Given the description of an element on the screen output the (x, y) to click on. 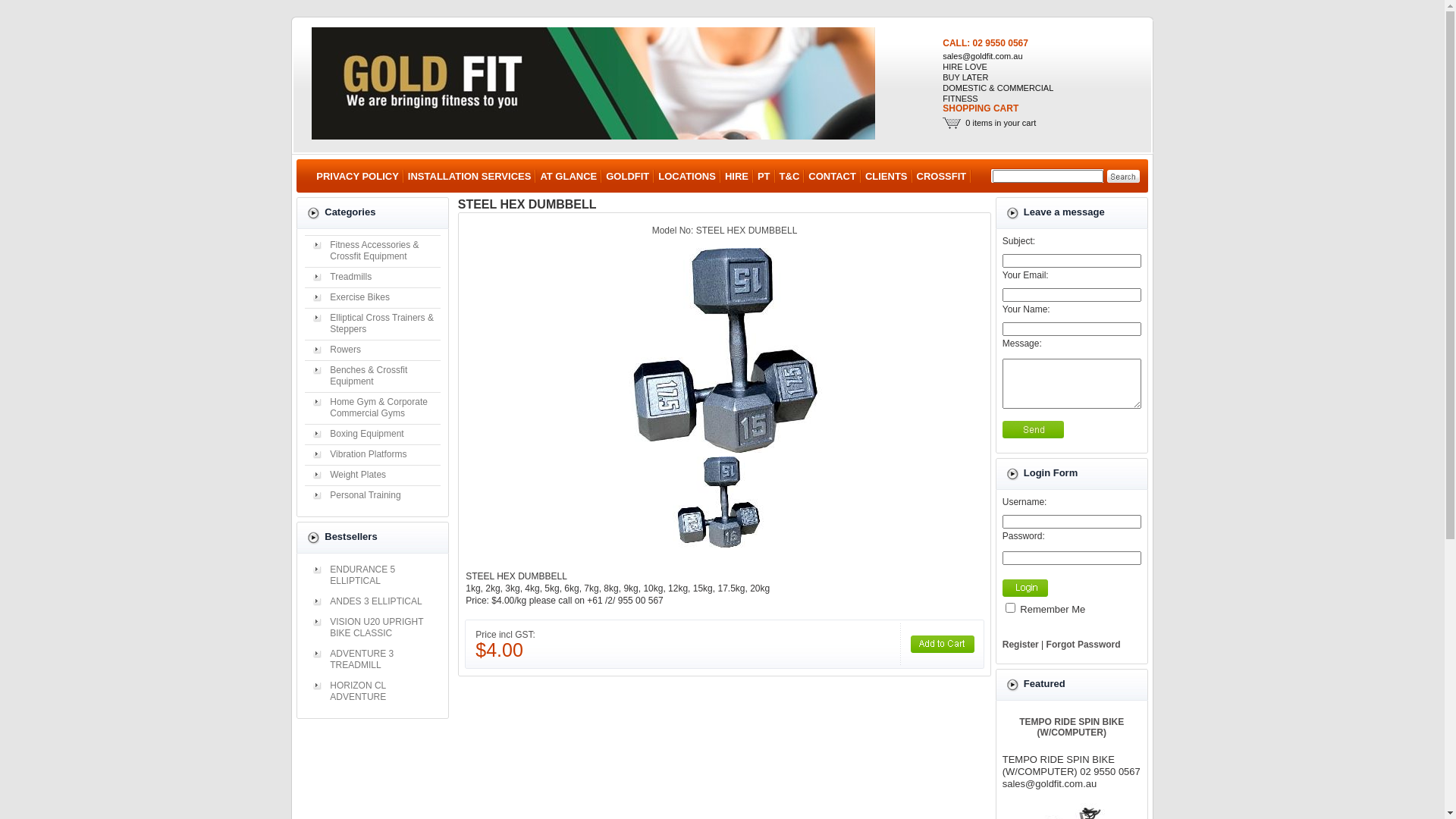
AT GLANCE Element type: text (567, 175)
ADVENTURE 3 TREADMILL Element type: text (372, 659)
Send Element type: hover (1032, 429)
Exercise Bikes Element type: text (372, 297)
0 items in your cart Element type: text (1000, 122)
PT Element type: text (763, 175)
Elliptical Cross Trainers & Steppers Element type: text (372, 323)
HORIZON CL ADVENTURE Element type: text (372, 691)
ENDURANCE 5 ELLIPTICAL Element type: text (372, 575)
CONTACT Element type: text (832, 175)
Boxing Equipment Element type: text (372, 433)
PRIVACY POLICY Element type: text (357, 175)
ANDES 3 ELLIPTICAL Element type: text (372, 601)
Login Element type: hover (1025, 587)
Forgot Password Element type: text (1083, 644)
sales@goldfit.com.au Element type: text (982, 55)
LOCATIONS Element type: text (686, 175)
T&C Element type: text (789, 175)
CLIENTS Element type: text (886, 175)
Treadmills Element type: text (372, 276)
TEMPO RIDE SPIN BIKE (W/COMPUTER) Element type: text (1071, 726)
INSTALLATION SERVICES Element type: text (469, 175)
Home Gym & Corporate Commercial Gyms Element type: text (372, 407)
HIRE Element type: text (736, 175)
GOLDFIT Element type: text (627, 175)
Vibration Platforms Element type: text (372, 454)
Personal Training Element type: text (372, 495)
Rowers Element type: text (372, 349)
Register Element type: text (1020, 644)
VISION U20 UPRIGHT BIKE CLASSIC Element type: text (372, 627)
Weight Plates Element type: text (372, 474)
Benches & Crossfit Equipment Element type: text (372, 376)
CROSSFIT Element type: text (941, 175)
Fitness Accessories & Crossfit Equipment Element type: text (372, 250)
